Given the description of an element on the screen output the (x, y) to click on. 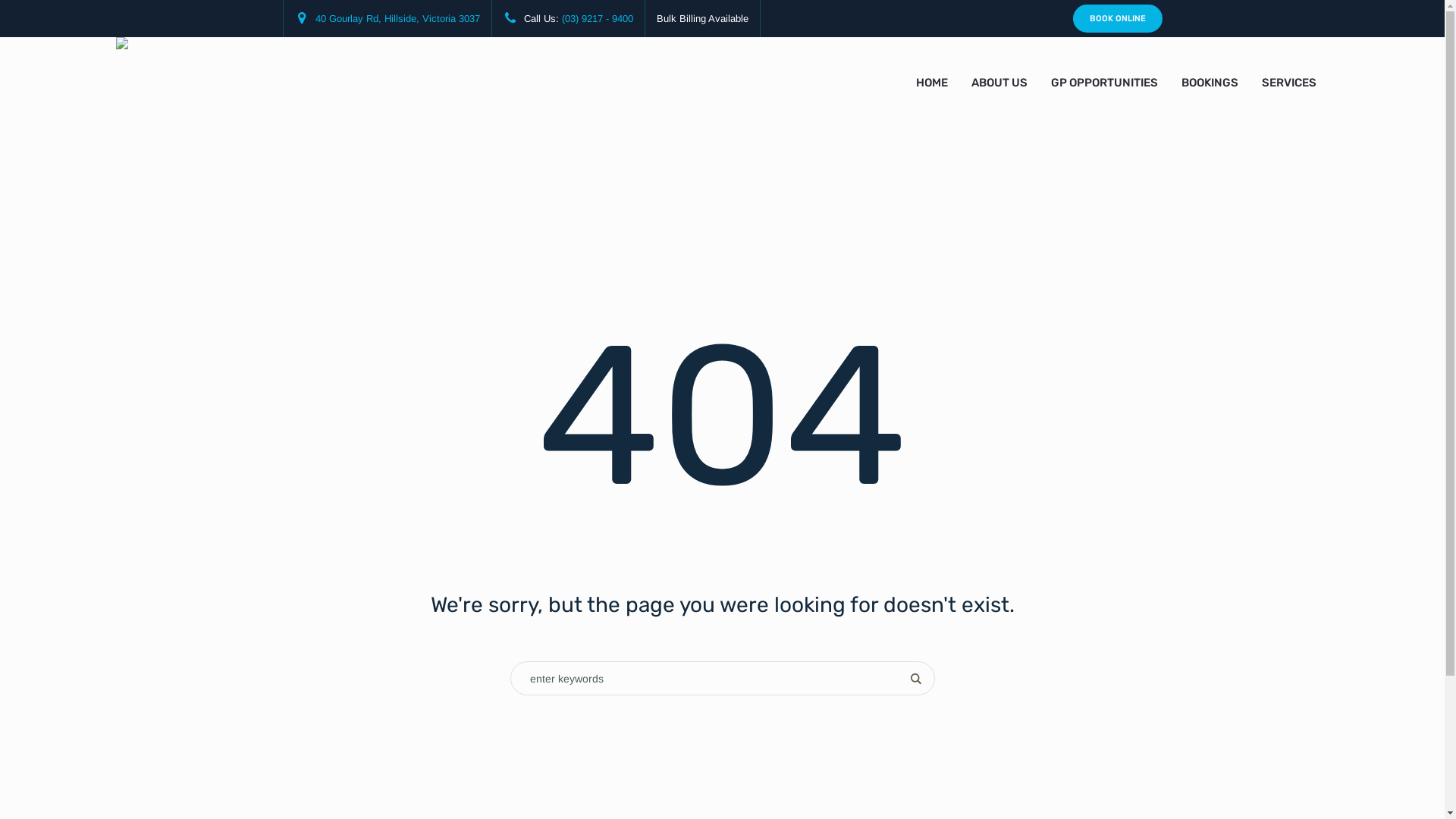
SERVICES Element type: text (1288, 82)
BOOKINGS Element type: text (1209, 82)
ABOUT US Element type: text (999, 82)
HOME Element type: text (931, 82)
BOOK ONLINE Element type: text (1116, 18)
(03) 9217 - 9400 Element type: text (596, 18)
GP OPPORTUNITIES Element type: text (1104, 82)
40 Gourlay Rd, Hillside, Victoria 3037 Element type: text (397, 18)
